Given the description of an element on the screen output the (x, y) to click on. 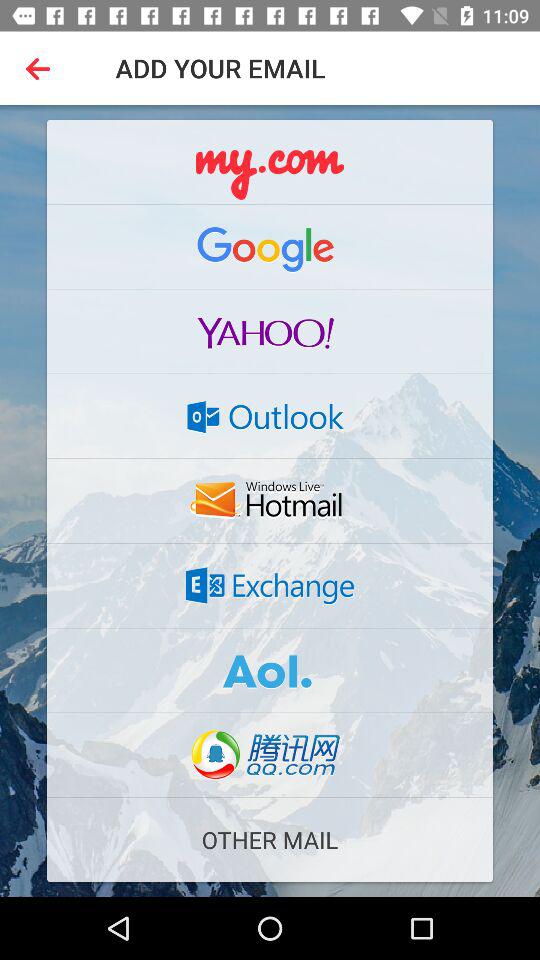
opens exchange (269, 585)
